Given the description of an element on the screen output the (x, y) to click on. 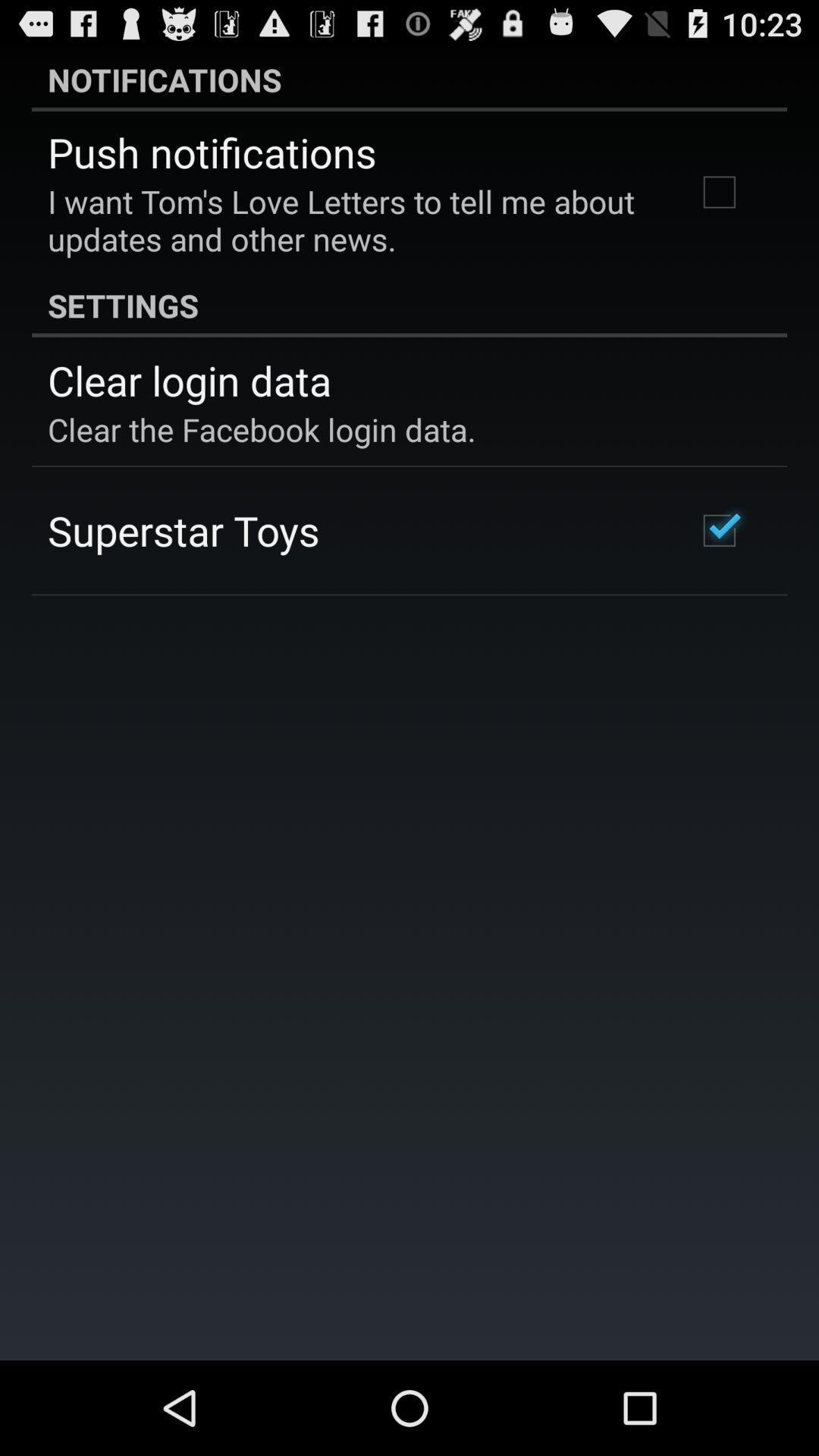
launch the item above the clear login data (409, 305)
